Given the description of an element on the screen output the (x, y) to click on. 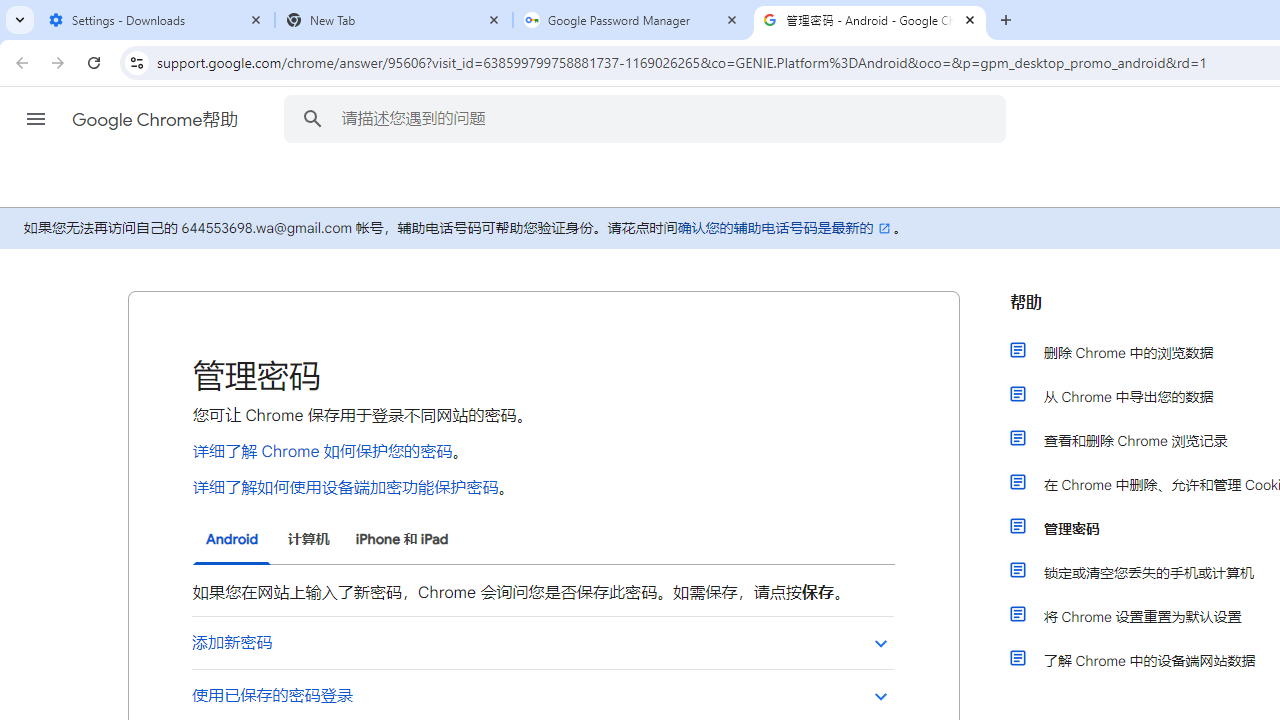
Google Password Manager (632, 20)
New Tab (394, 20)
